Given the description of an element on the screen output the (x, y) to click on. 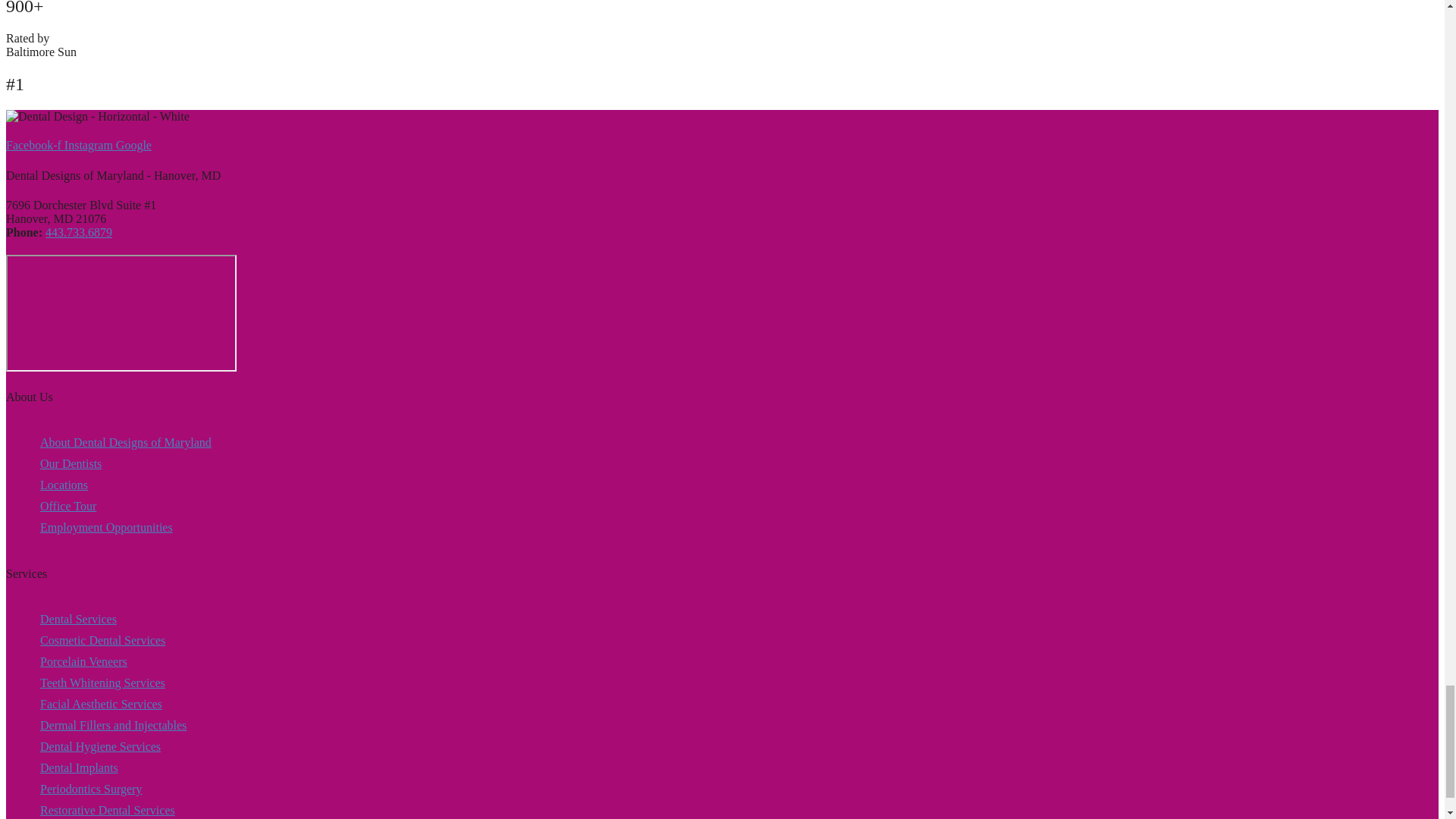
About Dental Designs of Maryland (125, 442)
Locations (125, 485)
Our Dentists (125, 463)
Office Tour (125, 506)
